Given the description of an element on the screen output the (x, y) to click on. 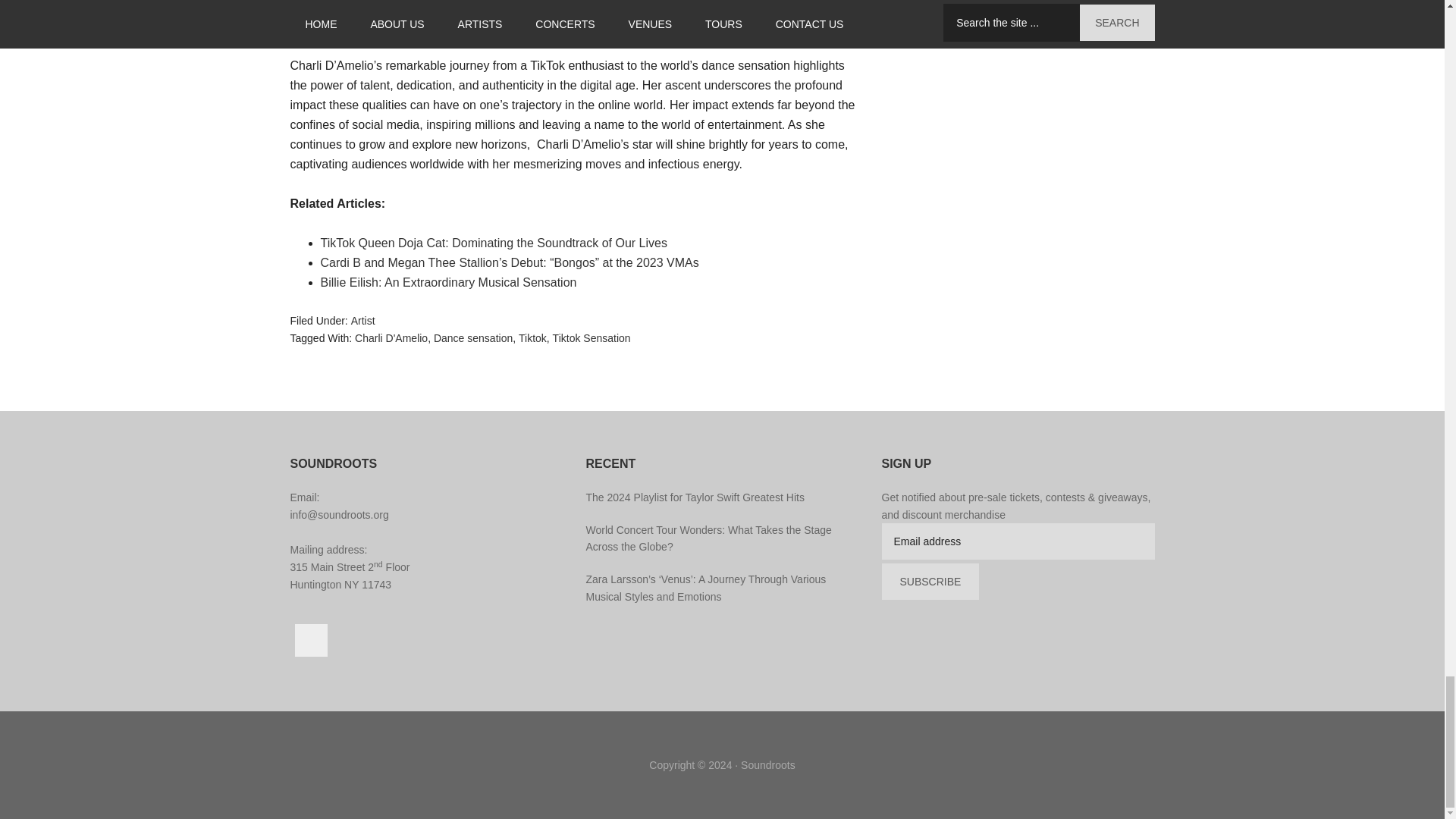
Tiktok (532, 337)
Billie Eilish: An Extraordinary Musical Sensation (448, 282)
Subscribe (929, 581)
Tiktok Sensation (591, 337)
Dance sensation (472, 337)
Charli D'Amelio (391, 337)
Artist (362, 320)
